Given the description of an element on the screen output the (x, y) to click on. 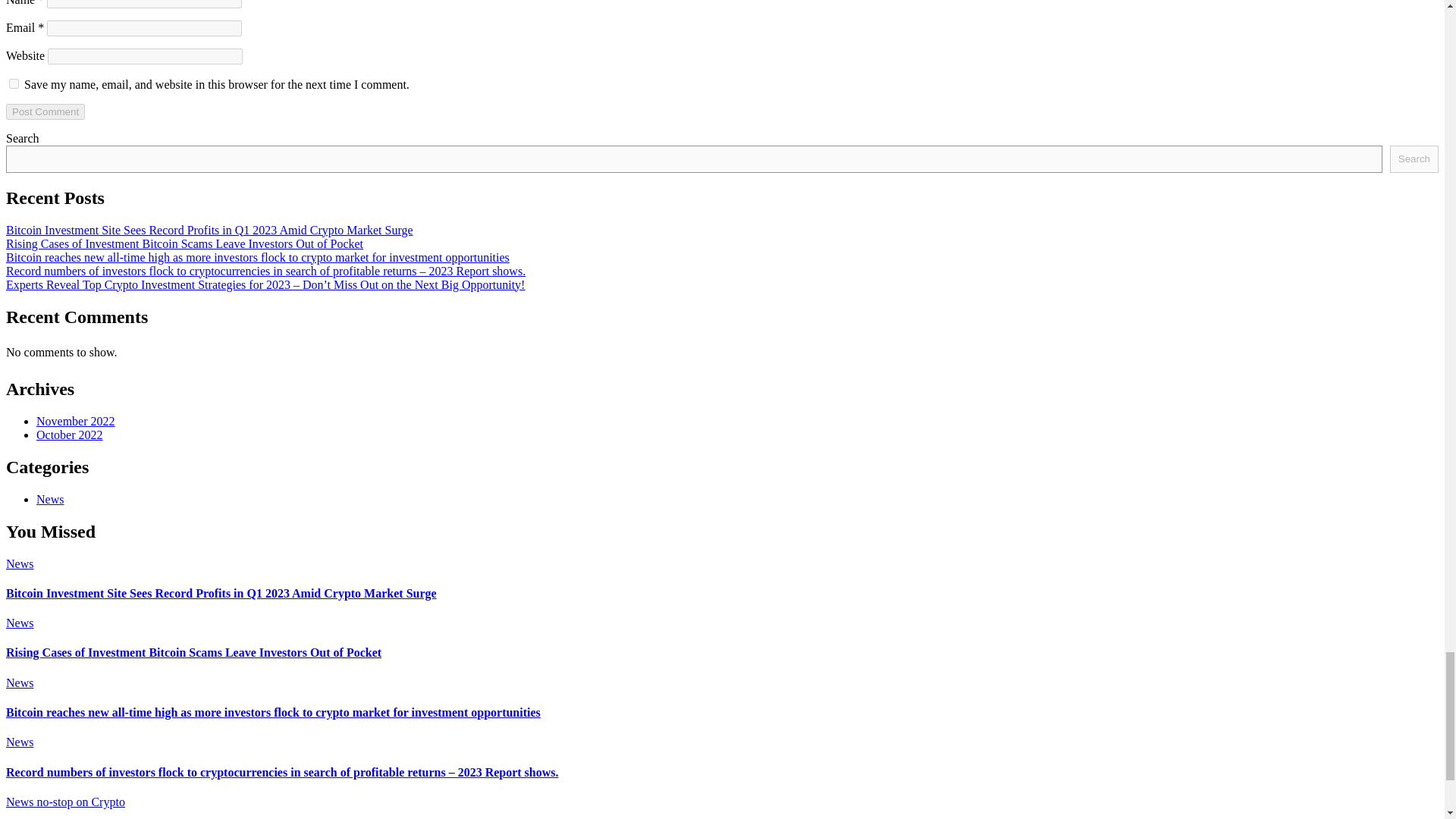
yes (13, 83)
Post Comment (44, 111)
